Given the description of an element on the screen output the (x, y) to click on. 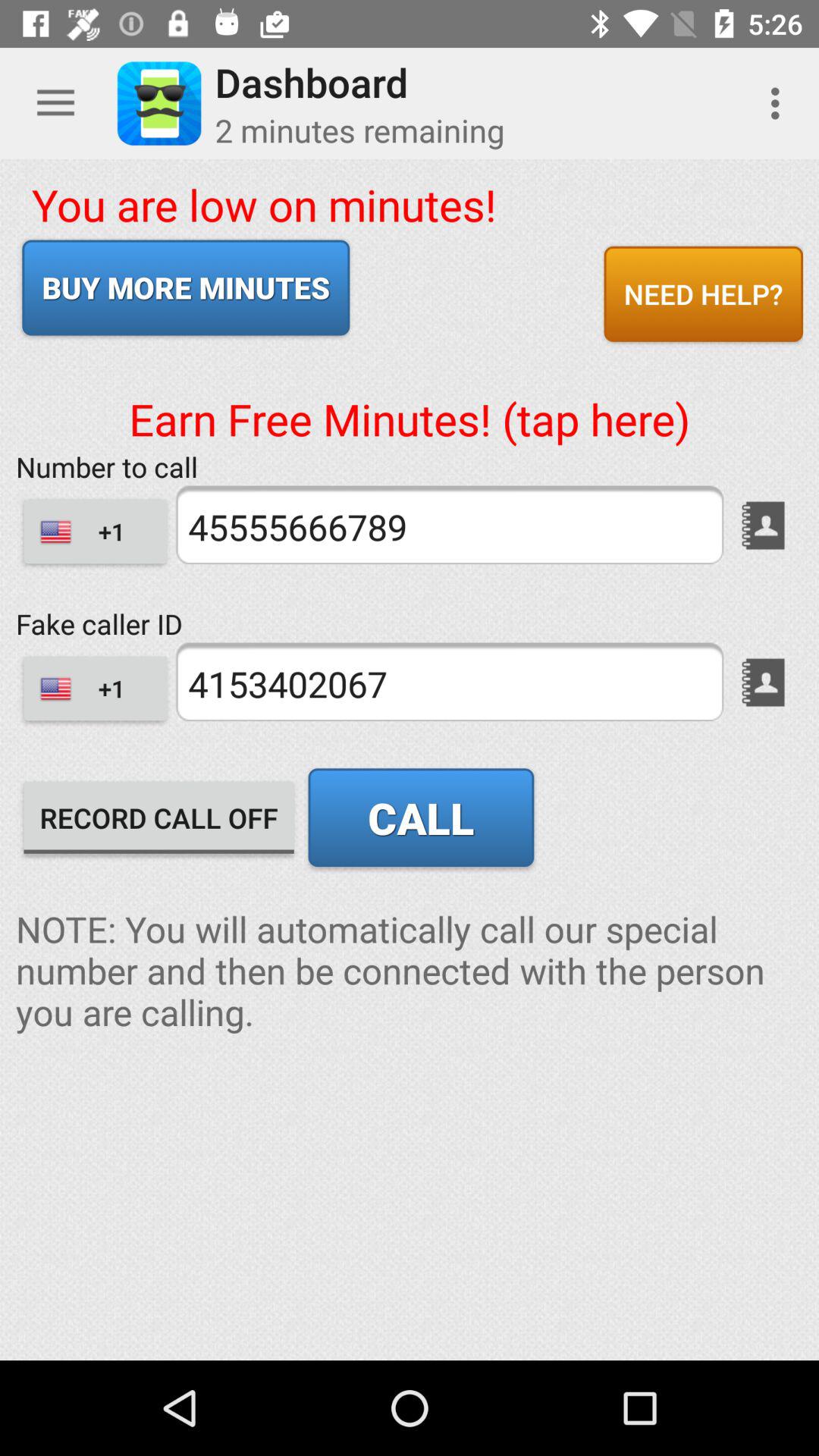
launch item to the left of call icon (158, 817)
